Given the description of an element on the screen output the (x, y) to click on. 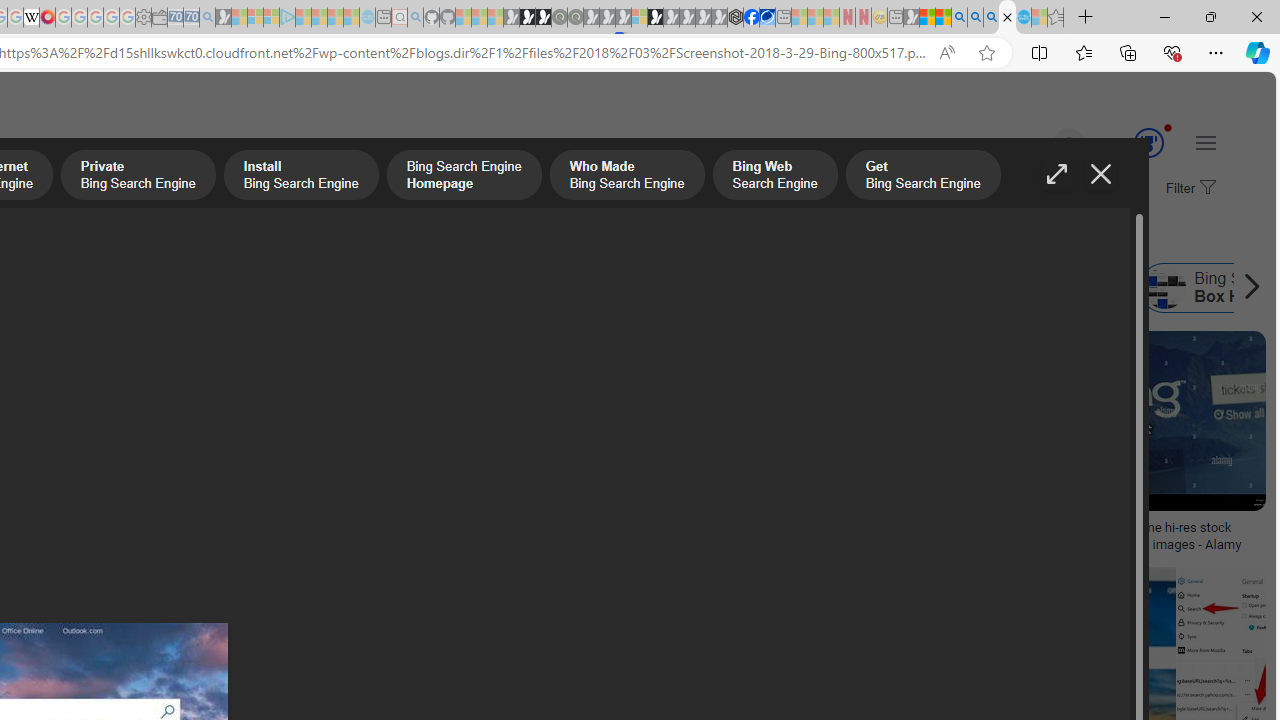
AutomationID: rh_meter (1148, 142)
Wallet - Sleeping (159, 17)
Cheap Car Rentals - Save70.com - Sleeping (191, 17)
